Given the description of an element on the screen output the (x, y) to click on. 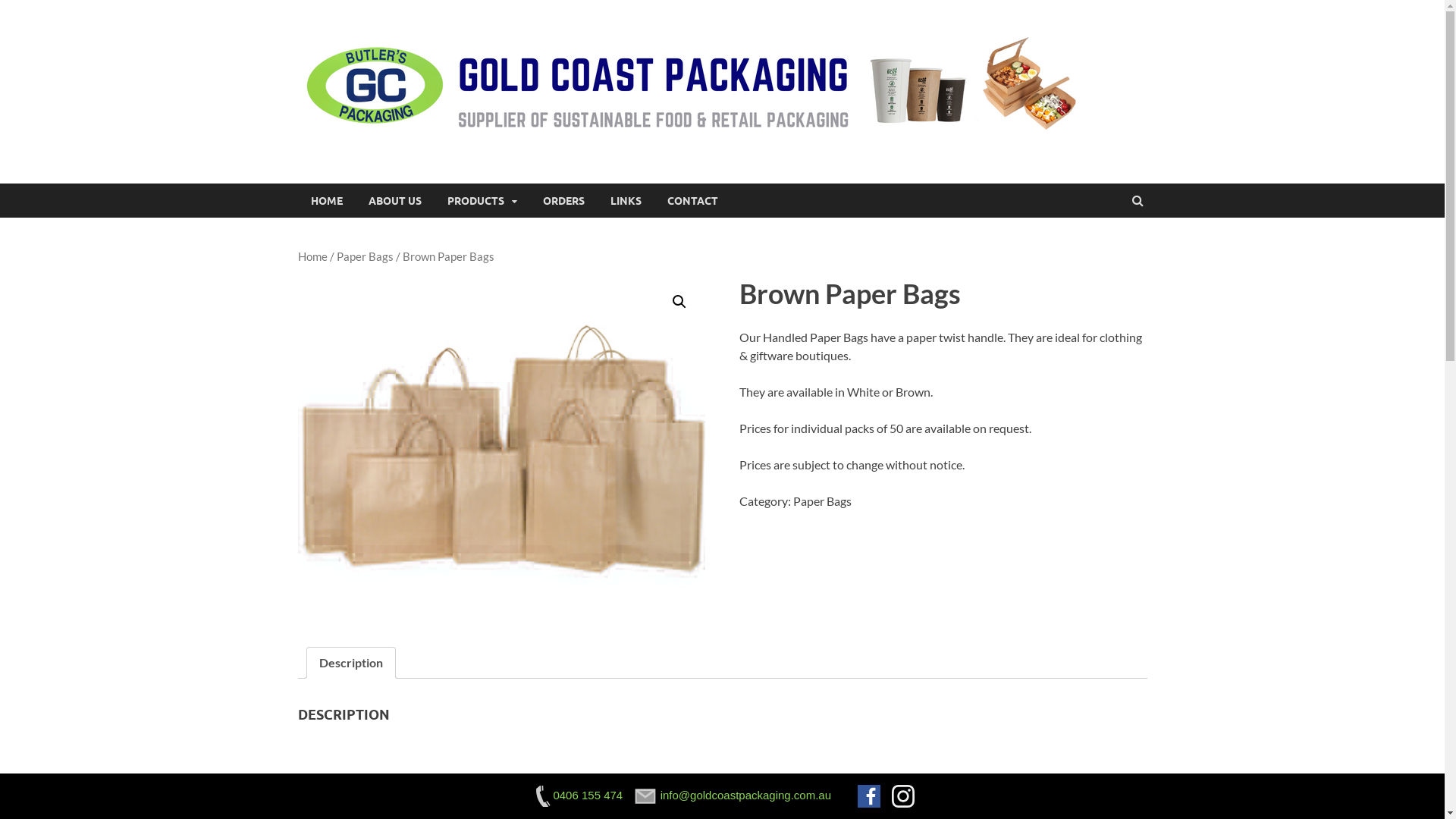
ABOUT US Element type: text (393, 200)
HOME Element type: text (325, 200)
ORDERS Element type: text (562, 200)
BrownTwisted Element type: hover (501, 449)
Instagram Element type: hover (902, 795)
0406 155 474 Element type: text (576, 794)
Paper Bags Element type: text (822, 500)
Description Element type: text (350, 662)
Home Element type: text (311, 256)
PRODUCTS Element type: text (481, 200)
LINKS Element type: text (625, 200)
Facebook Element type: hover (868, 795)
CONTACT Element type: text (691, 200)
info@goldcoastpackaging.com.au Element type: text (733, 794)
Paper Bags Element type: text (364, 256)
